Given the description of an element on the screen output the (x, y) to click on. 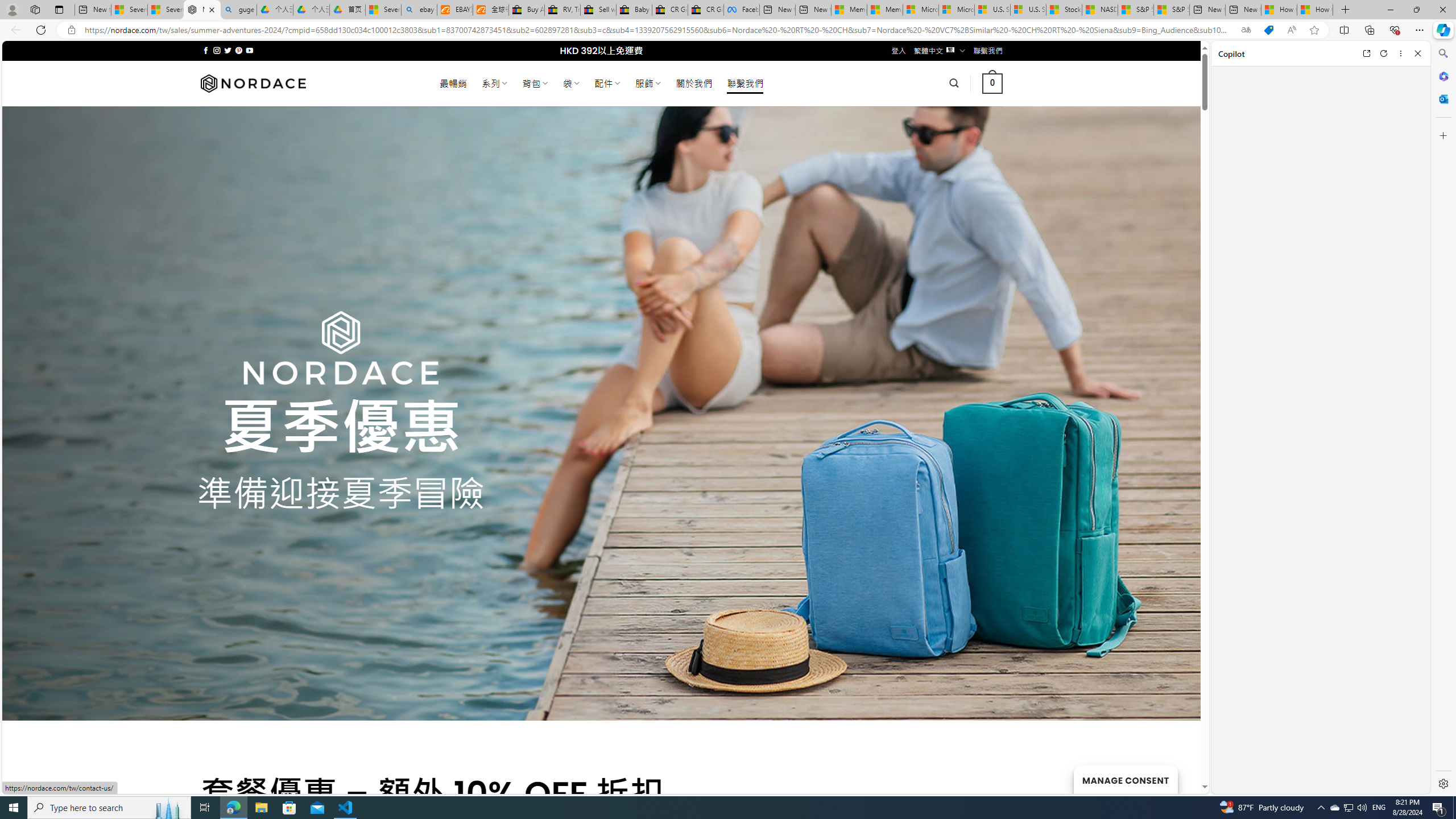
Follow on Pinterest (237, 50)
Side bar (1443, 418)
